Given the description of an element on the screen output the (x, y) to click on. 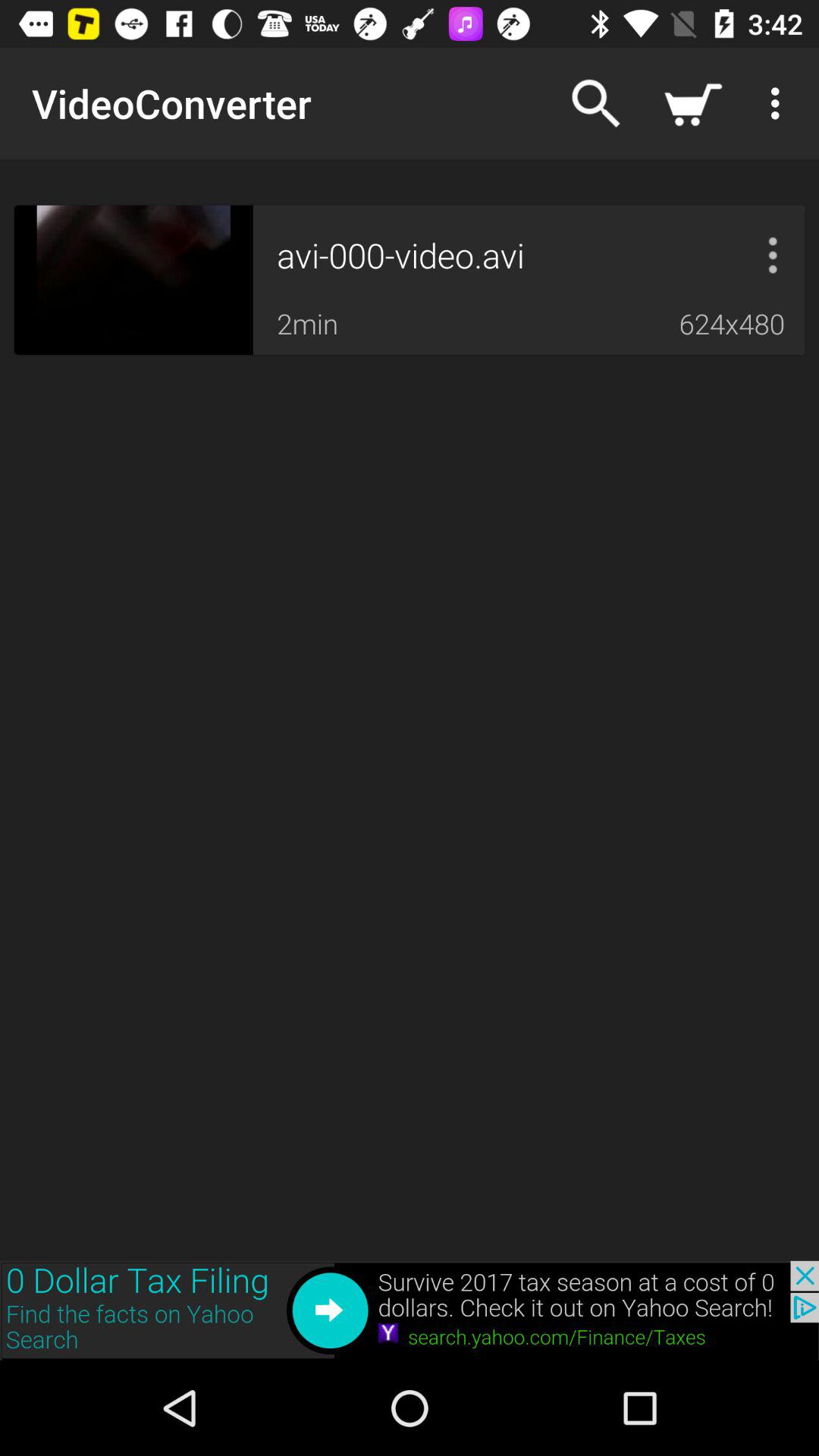
web advertisement (409, 1310)
